Given the description of an element on the screen output the (x, y) to click on. 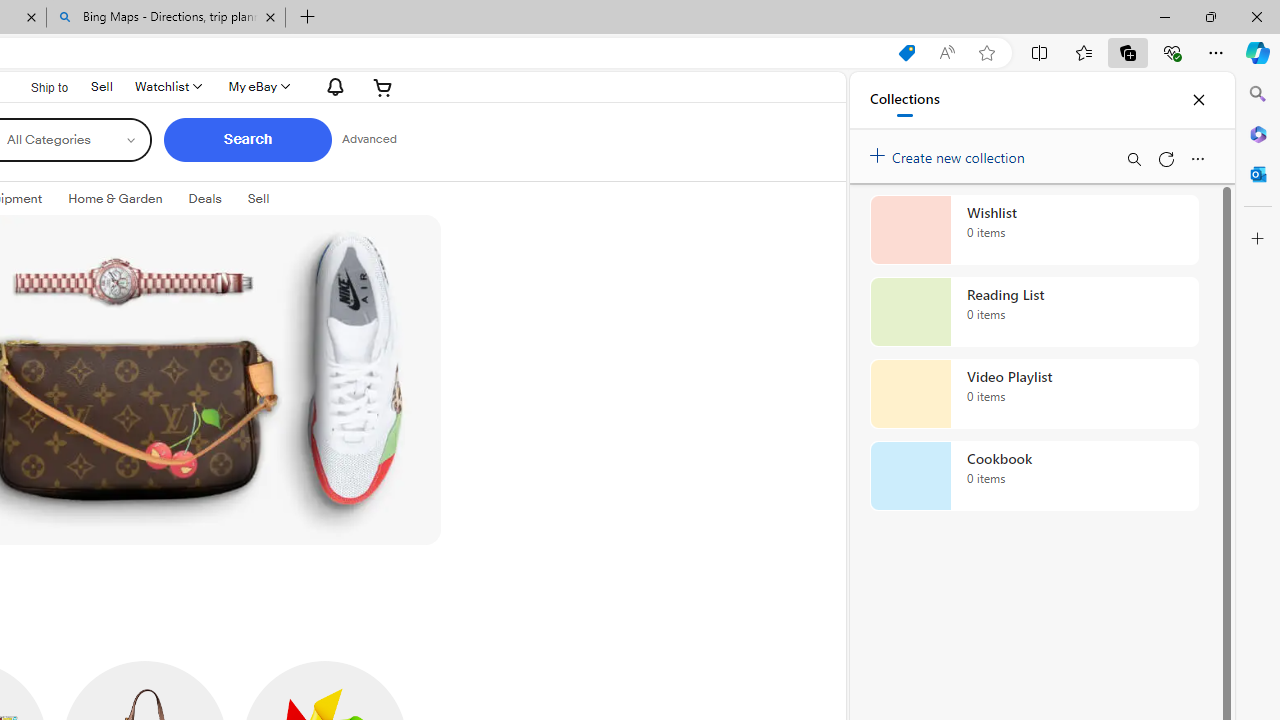
Home & GardenExpand: Home & Garden (115, 199)
More options menu (1197, 158)
My eBayExpand My eBay (258, 86)
Deals (204, 198)
Advanced Search (369, 139)
My eBay (258, 86)
